Given the description of an element on the screen output the (x, y) to click on. 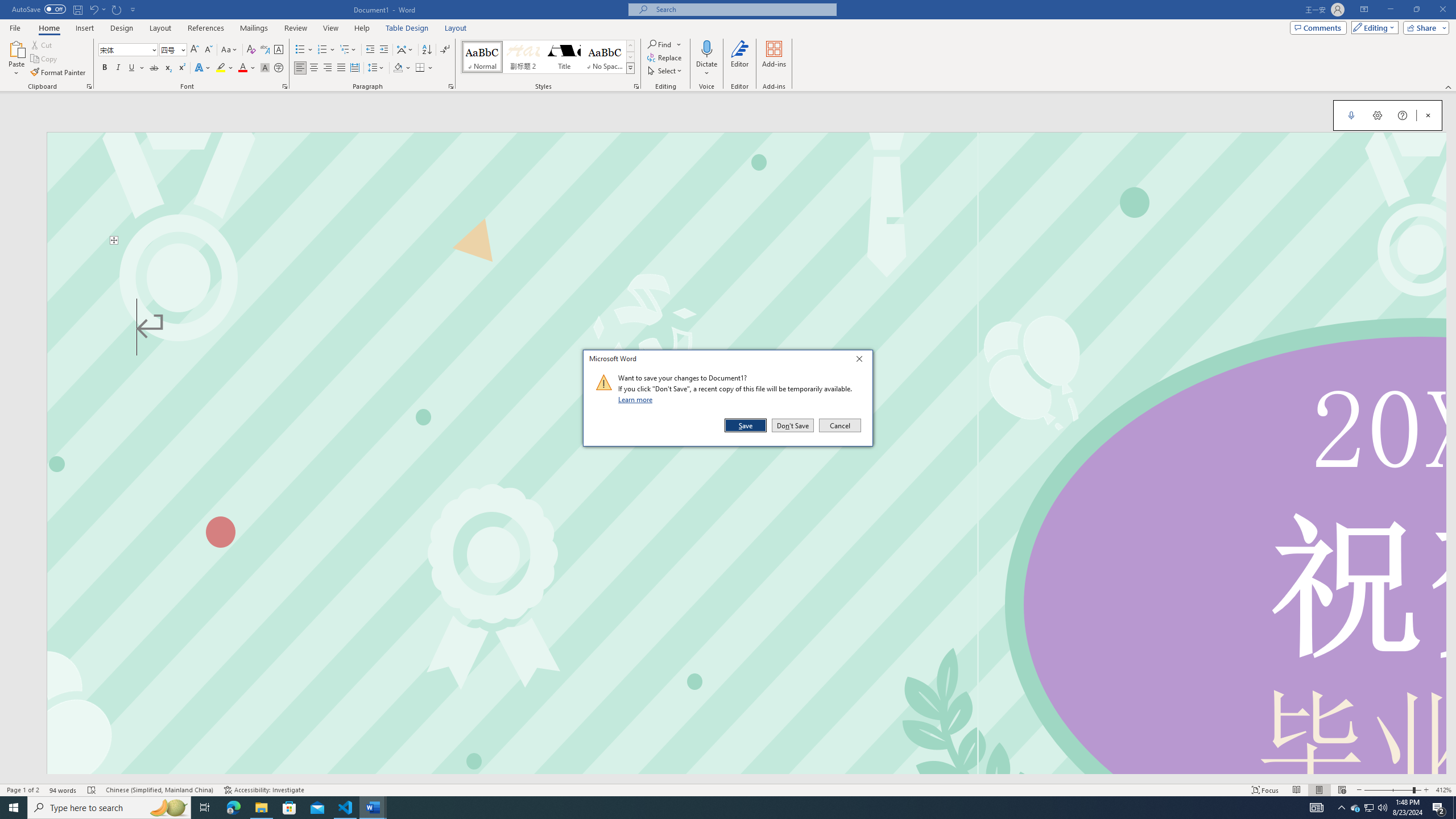
Search highlights icon opens search home window (167, 807)
Microsoft Edge (233, 807)
Page Number Page 1 of 2 (22, 790)
Word - 2 running windows (373, 807)
Q2790: 100% (1382, 807)
Start (13, 807)
Don't Save (792, 425)
Microsoft Store (289, 807)
